Given the description of an element on the screen output the (x, y) to click on. 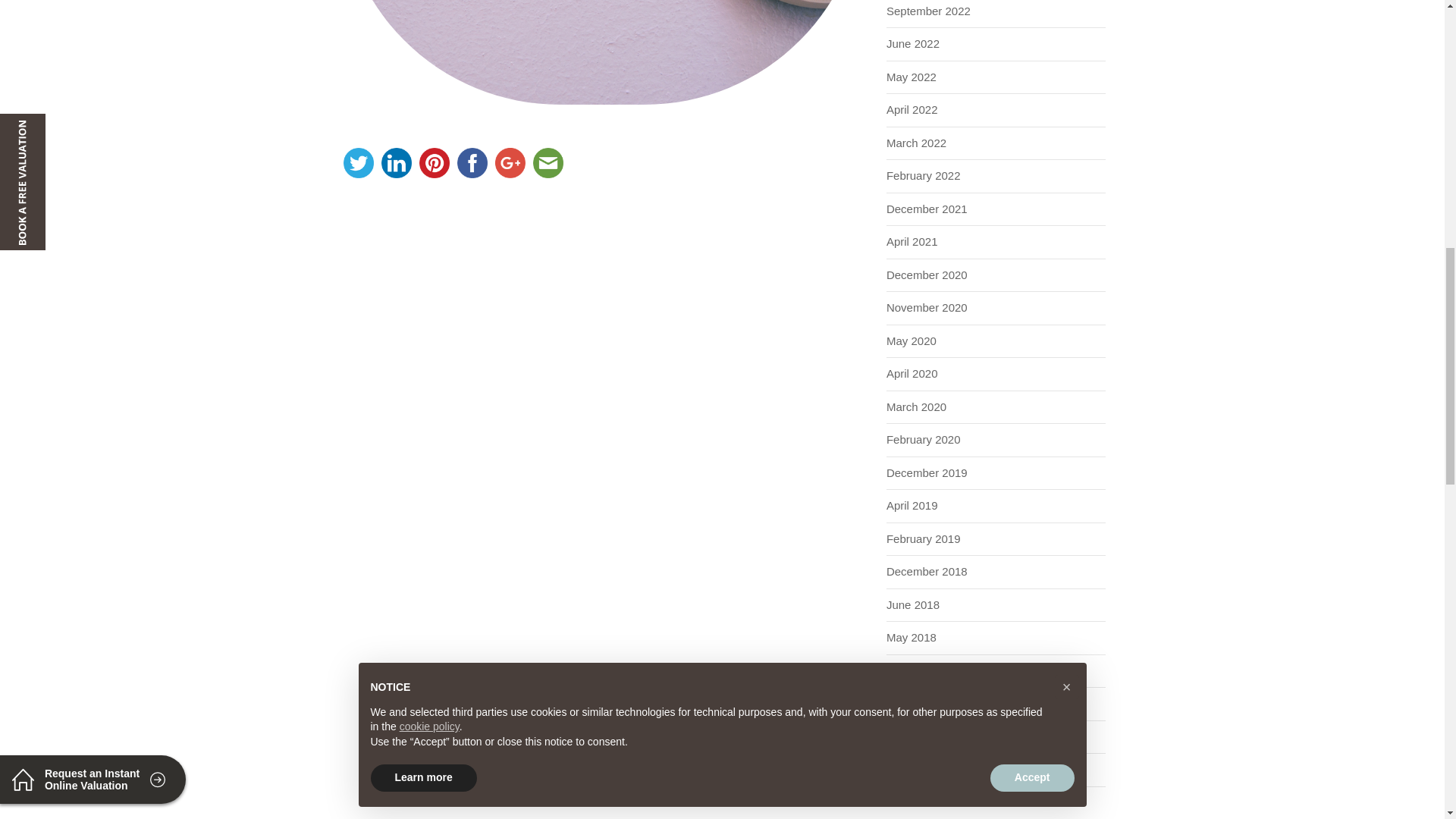
pinterest (433, 162)
twitter (358, 162)
linkedin (395, 162)
facebook (472, 162)
google (510, 162)
email (548, 162)
